Given the description of an element on the screen output the (x, y) to click on. 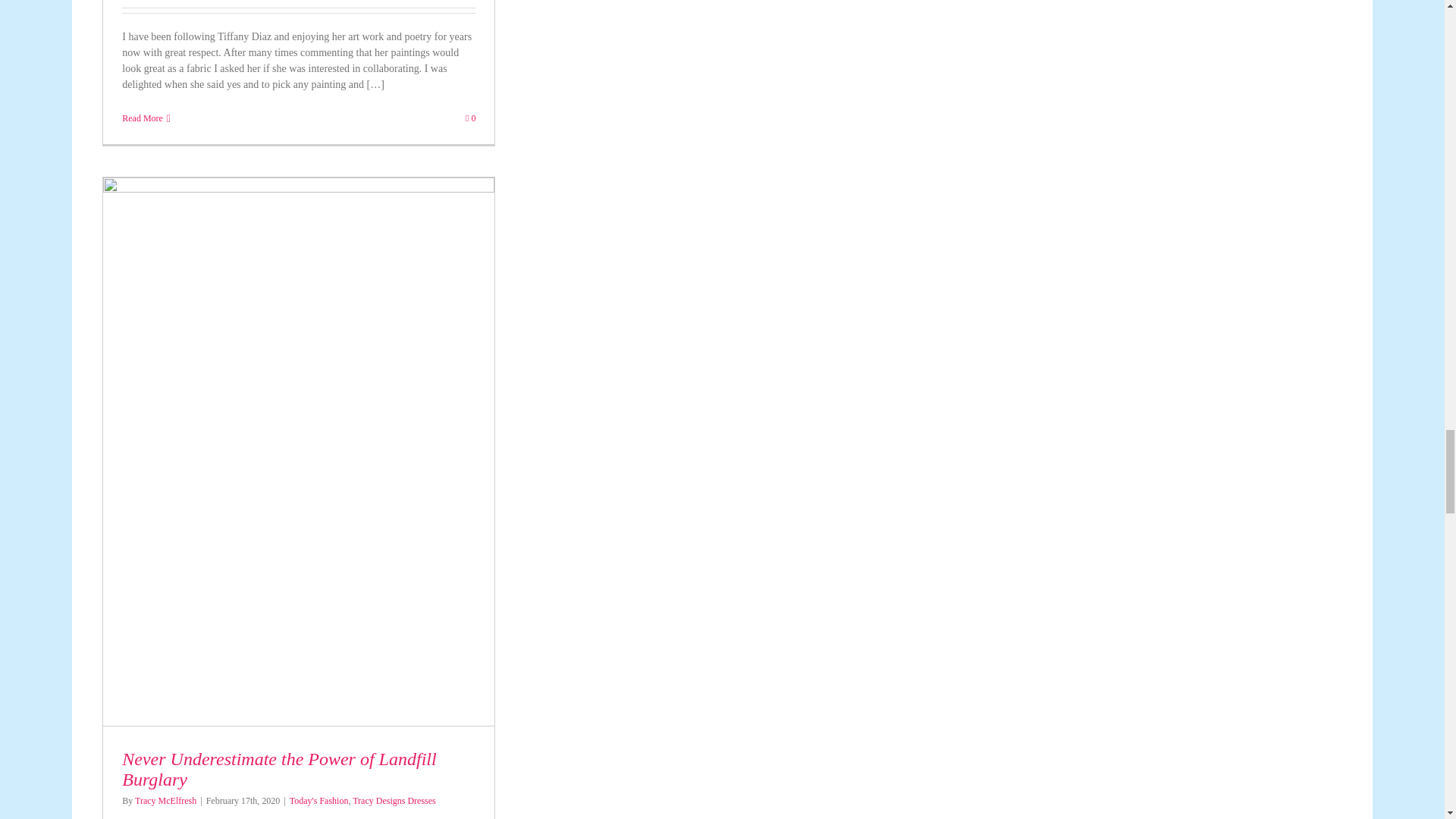
Posts by Tracy McElfresh (165, 800)
